Given the description of an element on the screen output the (x, y) to click on. 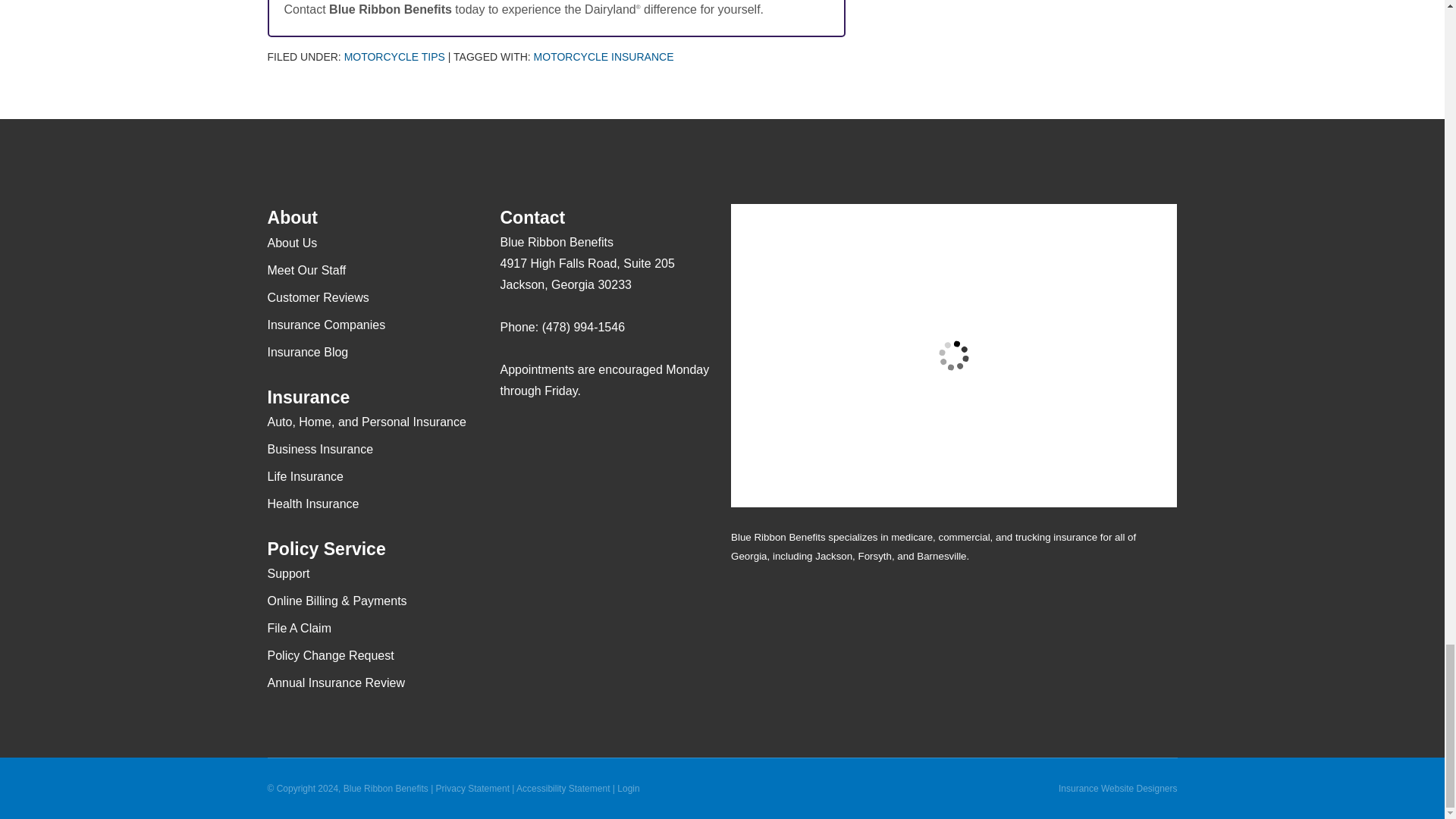
Facebook (541, 435)
Google Maps (511, 435)
Motorcycle Tips (394, 56)
Motorcycle Insurance (604, 56)
